Given the description of an element on the screen output the (x, y) to click on. 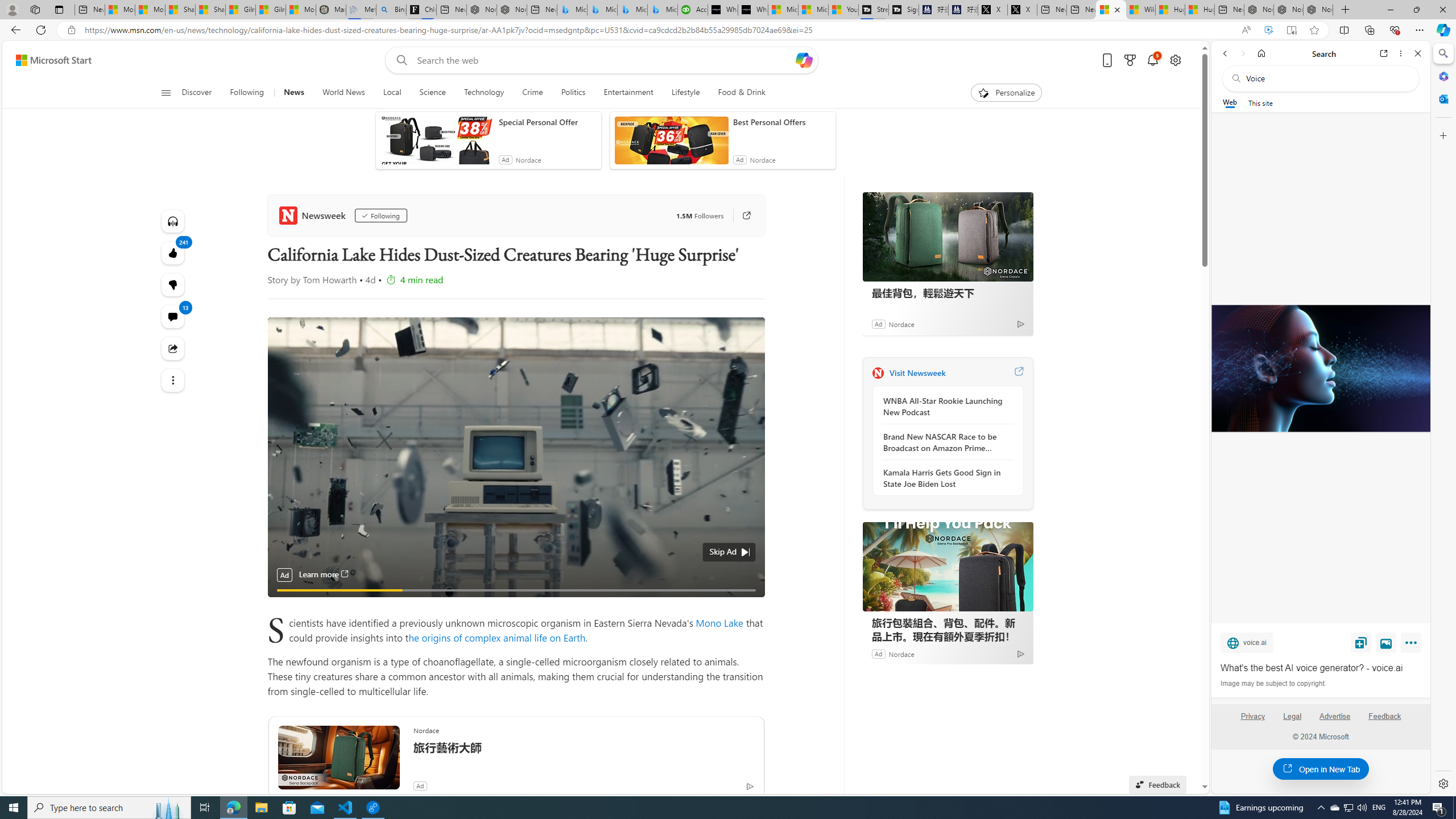
Unmute (749, 603)
Listen to this article (172, 221)
Open in New Tab (1321, 768)
241 Like (172, 252)
Customize (1442, 135)
Advertise (1335, 715)
Privacy (1252, 720)
Gilma and Hector both pose tropical trouble for Hawaii (270, 9)
Nordace - Best Sellers (1258, 9)
Enter Immersive Reader (F9) (1291, 29)
Skip Ad (722, 551)
Special Personal Offer (546, 121)
